Given the description of an element on the screen output the (x, y) to click on. 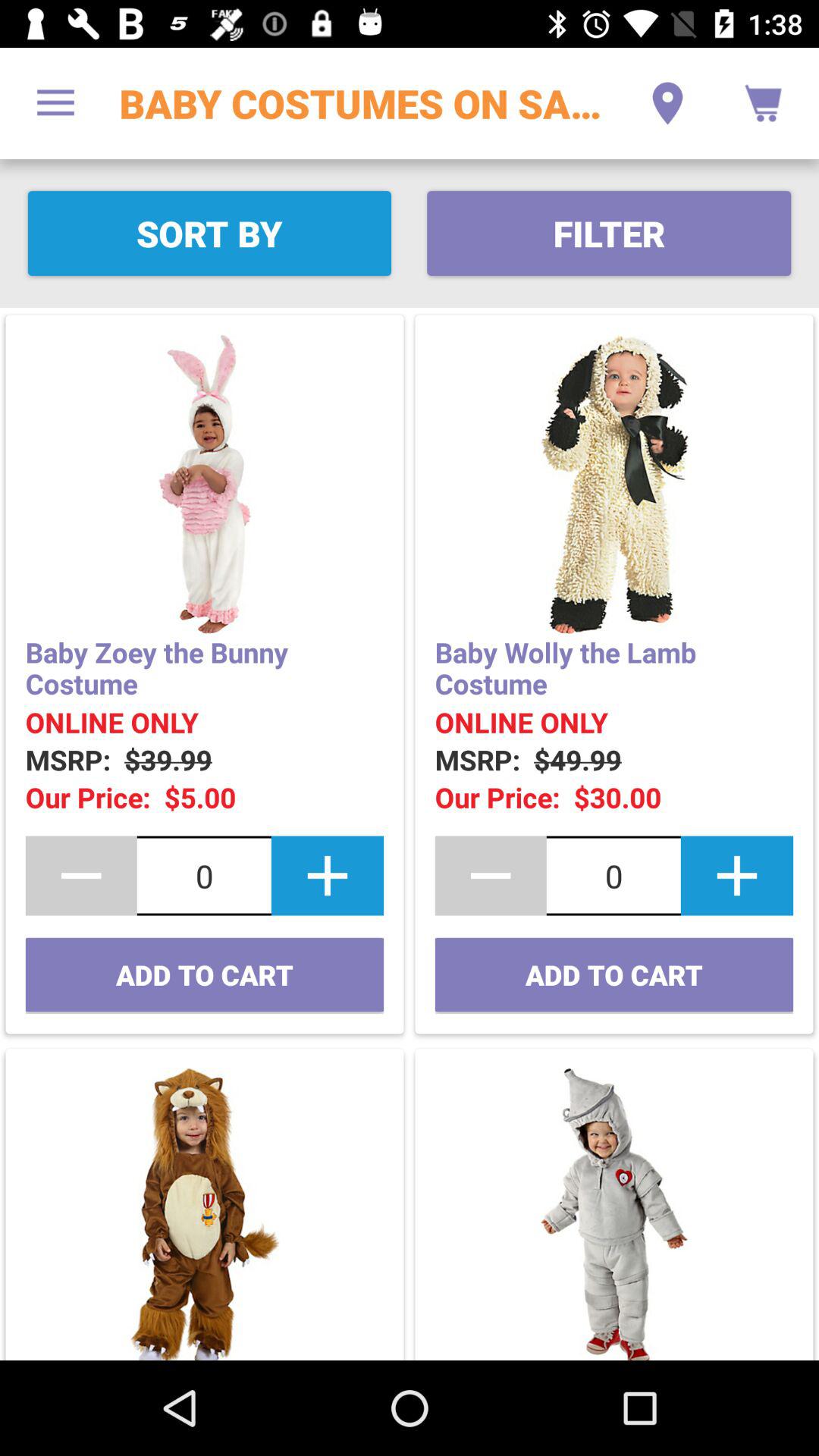
launch icon next to the baby costumes on app (667, 103)
